Given the description of an element on the screen output the (x, y) to click on. 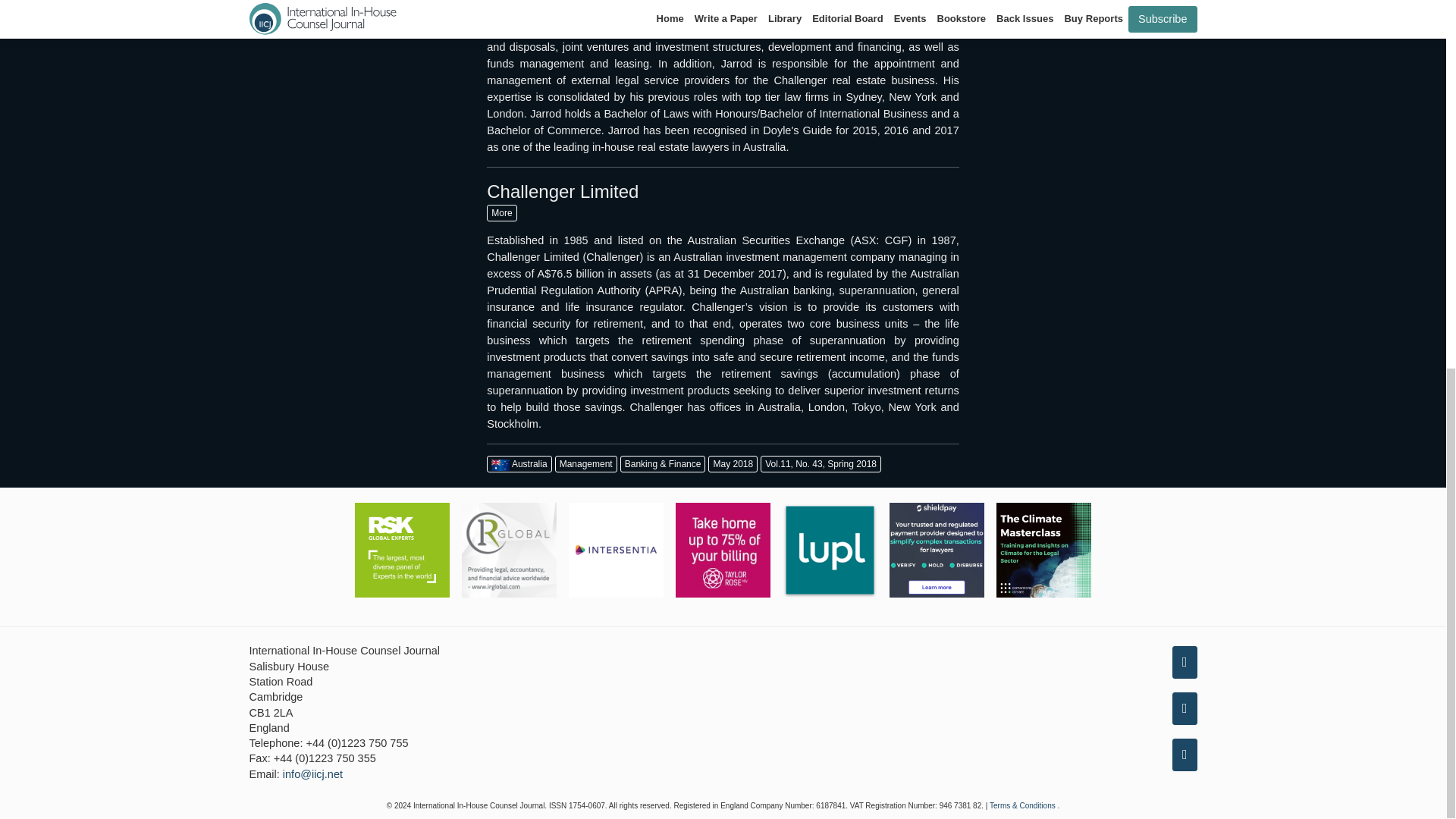
View all papers from Challenger Limited (501, 212)
View all papers from Australia (518, 463)
May 2018 (732, 463)
Management (585, 463)
Australia (518, 463)
More (501, 212)
Vol.11, No. 43, Spring 2018 (820, 463)
View all papers for Management (585, 463)
